Given the description of an element on the screen output the (x, y) to click on. 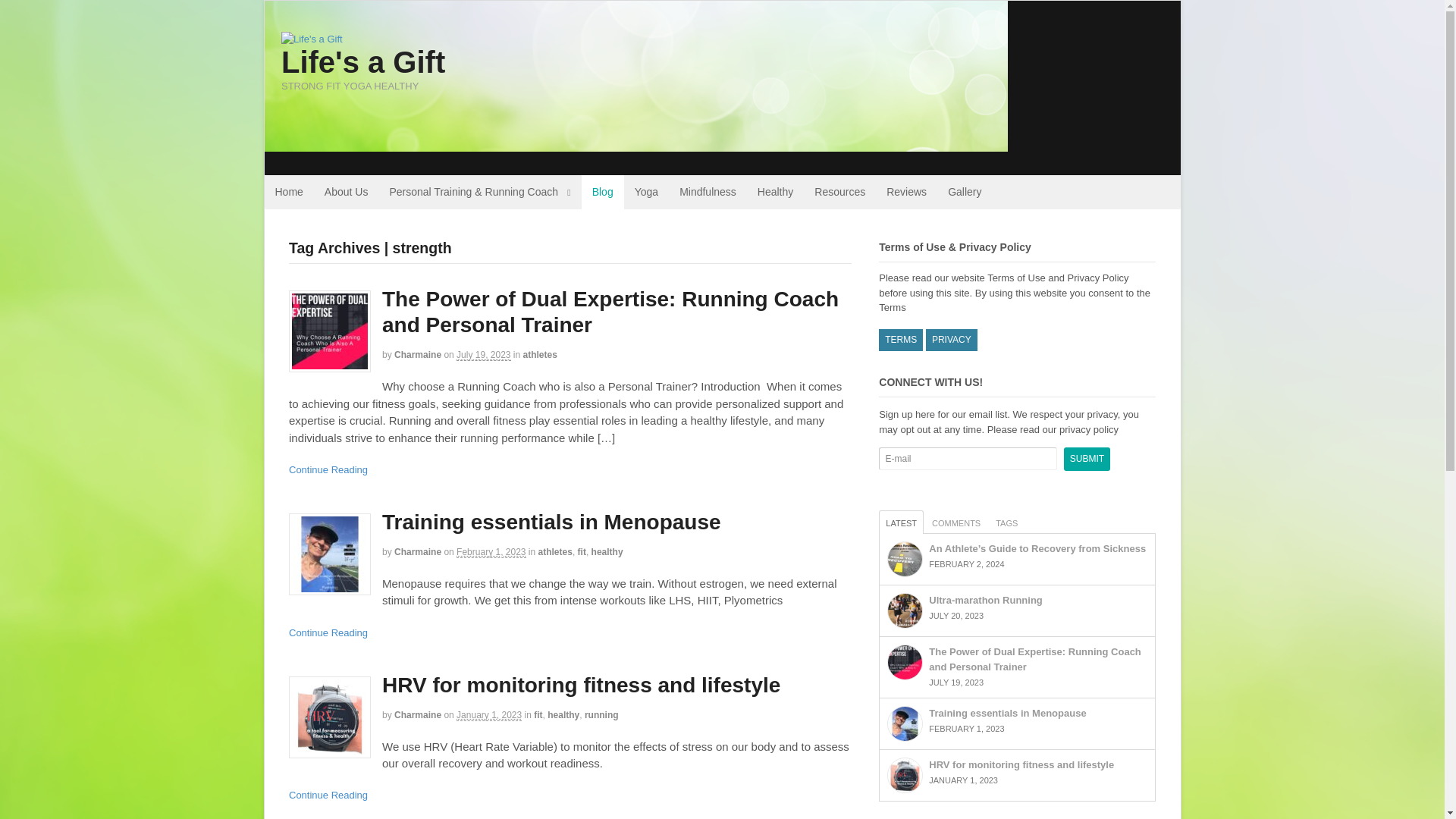
Continue Reading (328, 469)
healthy (563, 715)
athletes (555, 552)
Mindfulness (707, 192)
running (601, 715)
Home (288, 192)
HRV for monitoring fitness and lifestyle  (583, 684)
athletes (539, 354)
2023-02-01T14:16:05-0600 (491, 552)
Continue Reading (328, 632)
Charmaine (417, 354)
Resources (839, 192)
Posts by Charmaine (417, 354)
Gallery (964, 192)
